Given the description of an element on the screen output the (x, y) to click on. 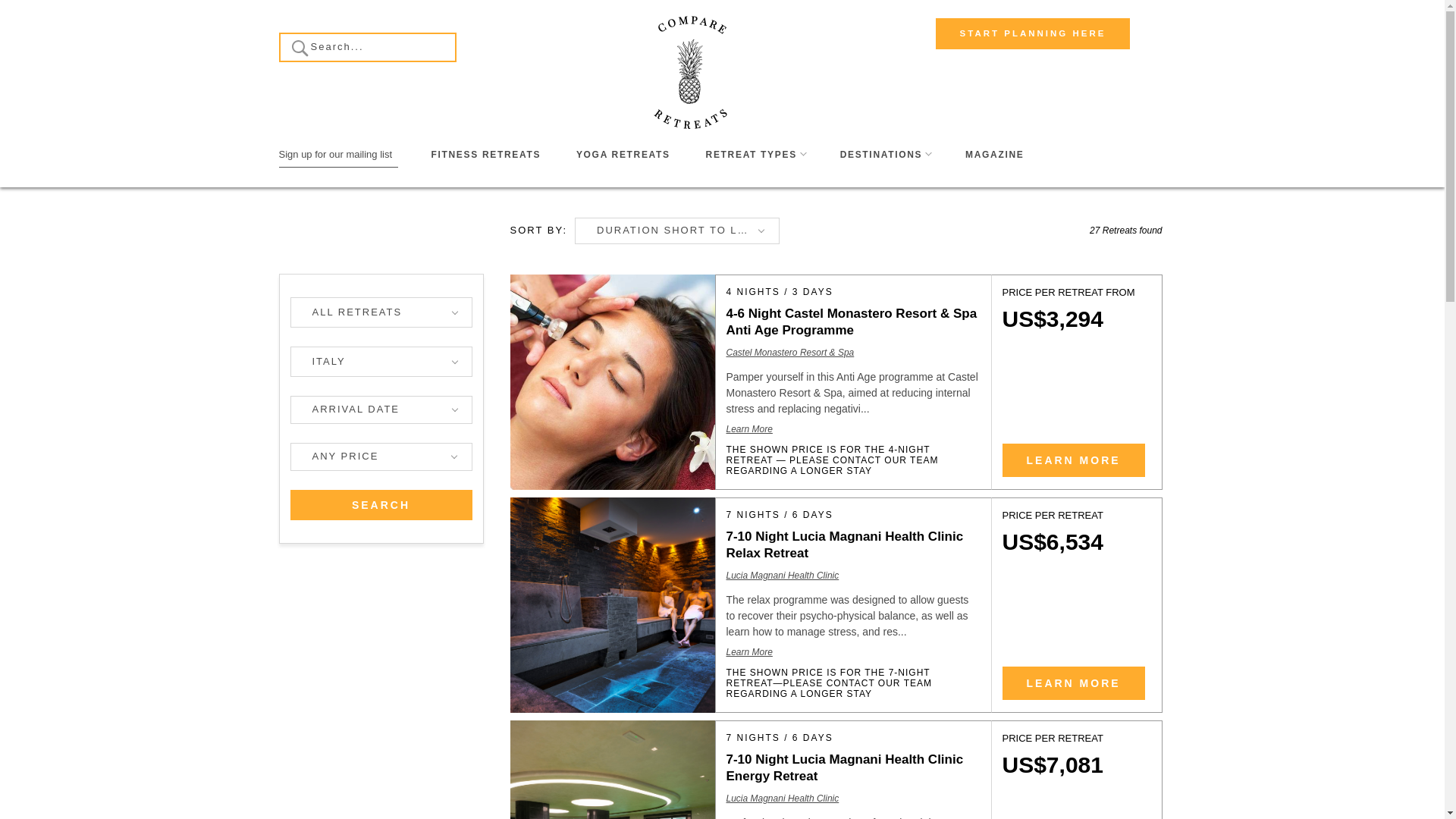
FITNESS RETREATS (485, 155)
search (380, 504)
All Retreats (380, 312)
YOGA RETREATS (623, 155)
Sign up for our mailing list (338, 155)
START PLANNING HERE (1033, 33)
Italy (380, 361)
